Given the description of an element on the screen output the (x, y) to click on. 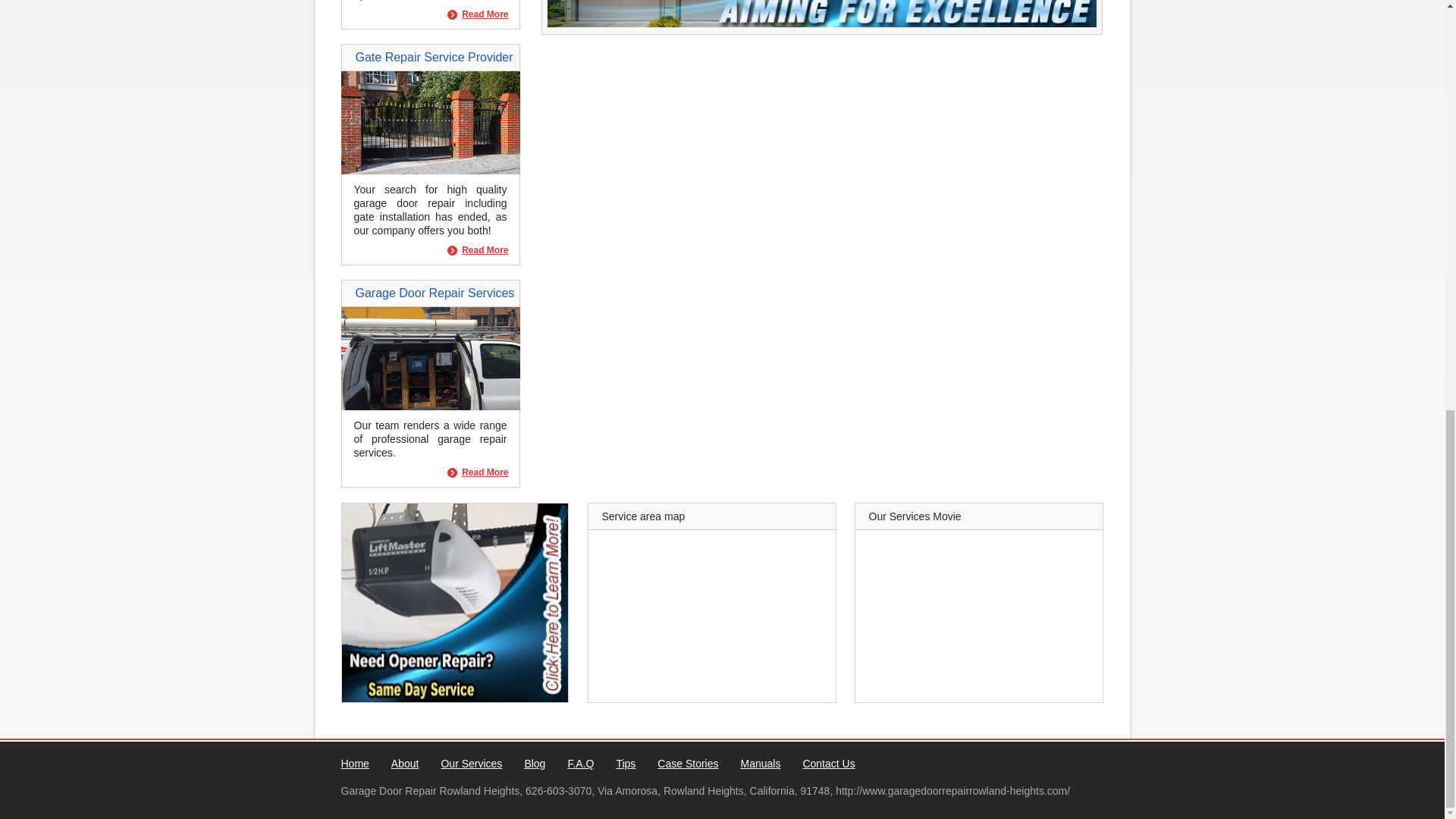
Read More (477, 472)
Gate Repair Service Provider (429, 170)
Garage Door Repair Services (434, 292)
Read More (477, 14)
Banner (821, 23)
Blog - Protecting the Garage from Weather Conditions (453, 602)
Read More (477, 250)
Gate Repair Service Provider (433, 56)
Garage Door Repair Services (429, 406)
Blog - Protecting the Garage from Weather Conditions (821, 13)
Read More (477, 472)
Read More (477, 250)
Read More (477, 14)
